Given the description of an element on the screen output the (x, y) to click on. 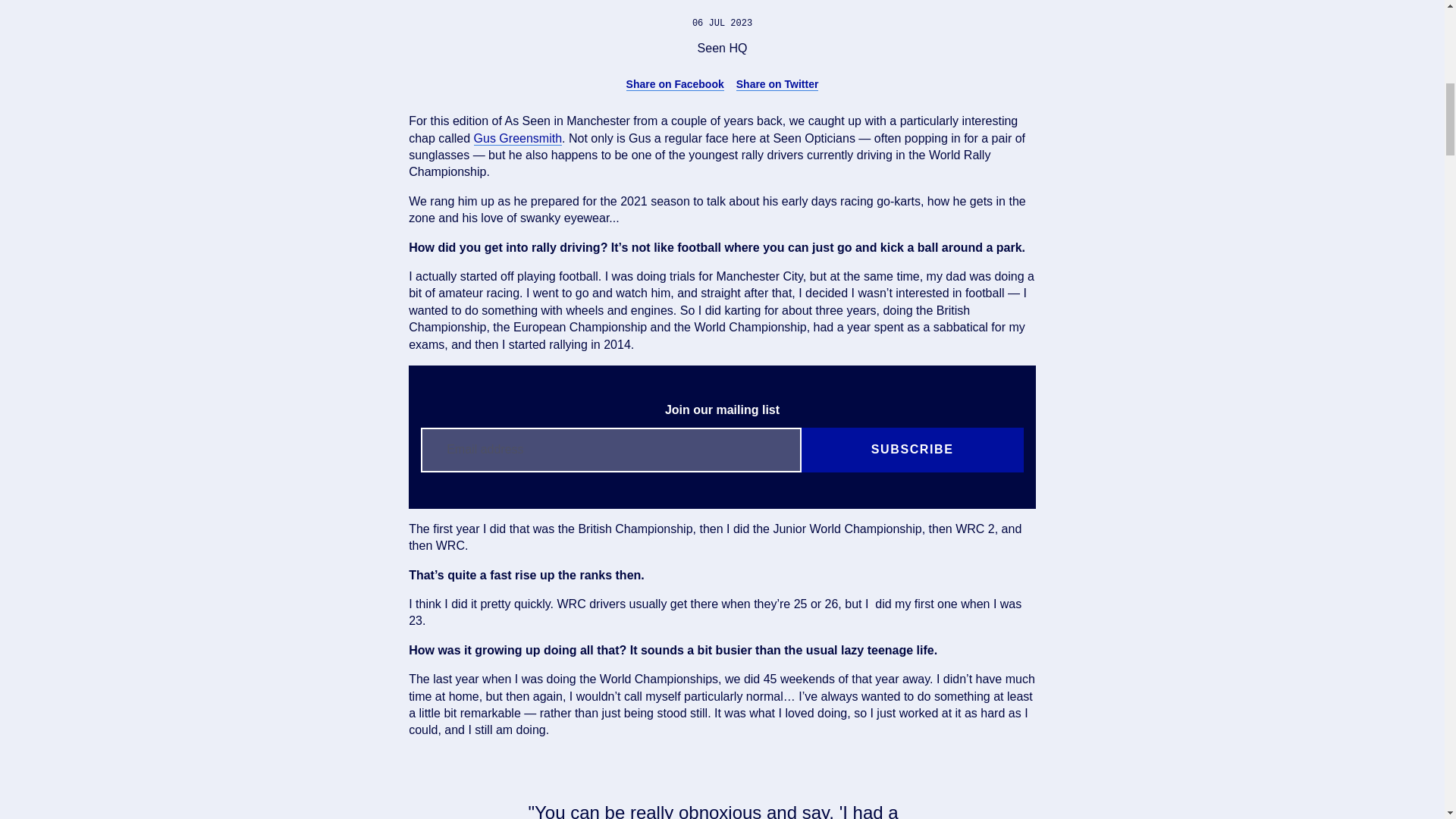
Share on Twitter (777, 83)
Gus Greensmith (518, 138)
Share on Facebook (674, 83)
